Given the description of an element on the screen output the (x, y) to click on. 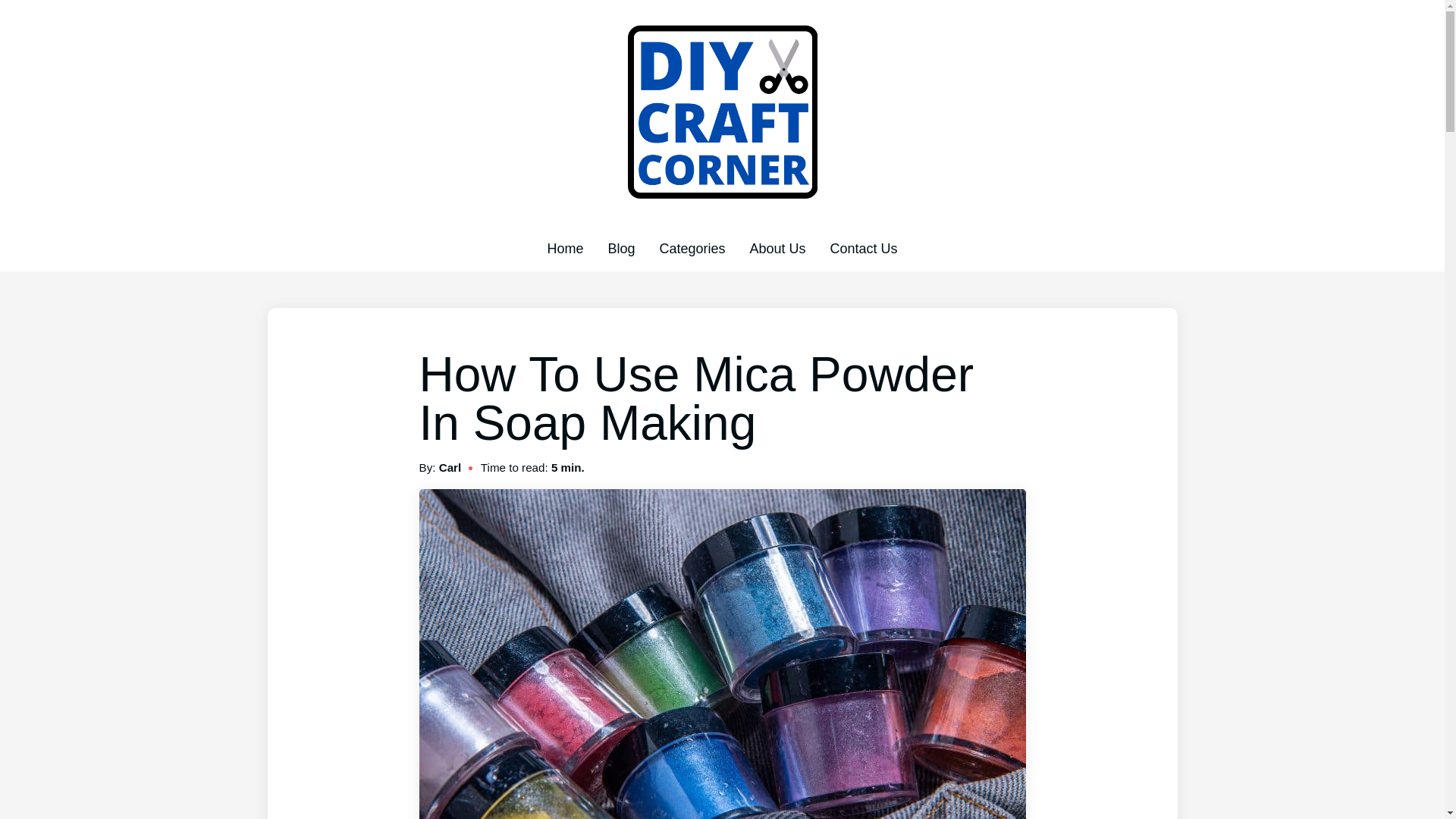
Blog (620, 248)
Contact Us (863, 248)
Home (565, 248)
Categories (692, 248)
About Us (777, 248)
